Given the description of an element on the screen output the (x, y) to click on. 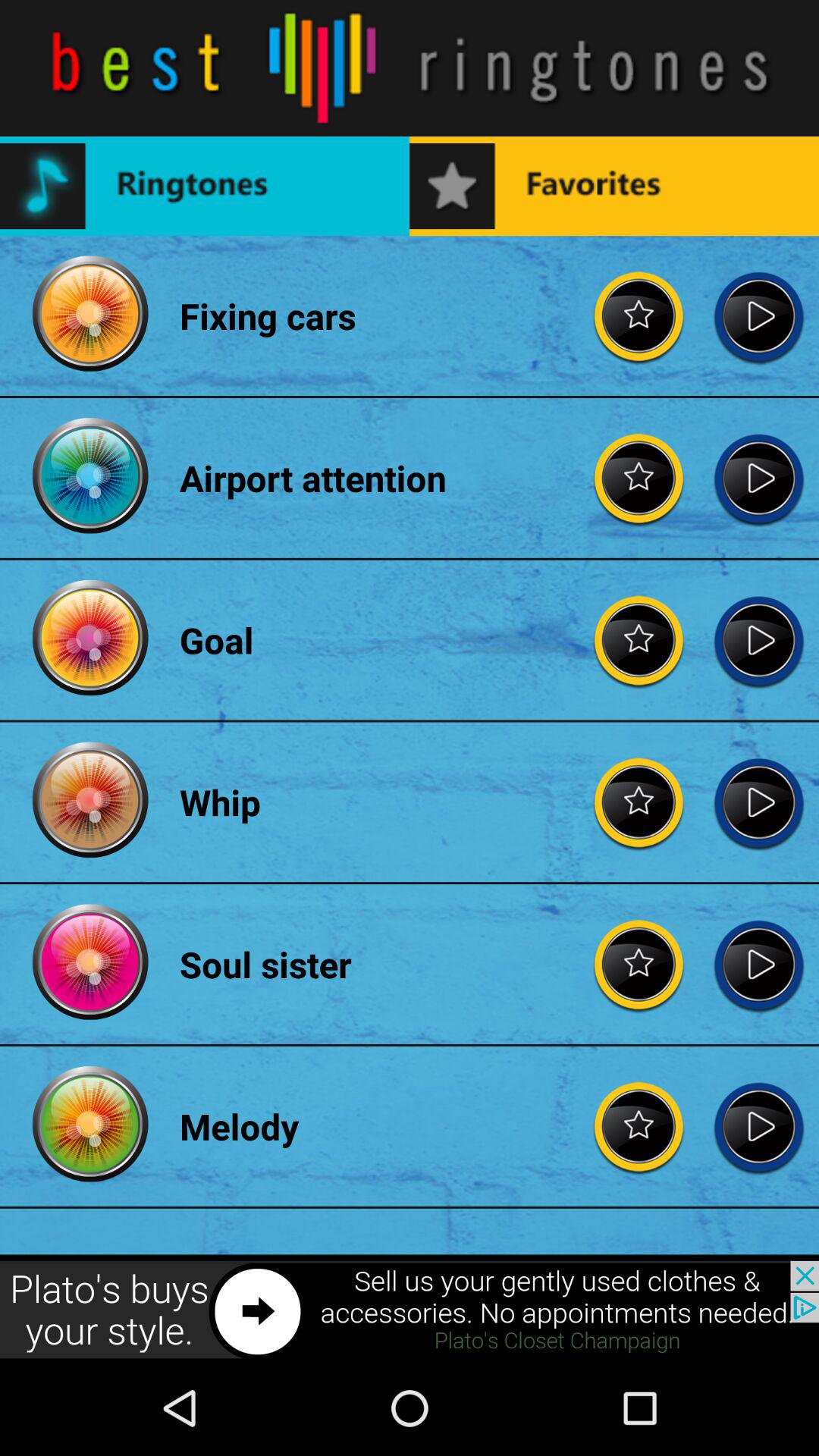
favorite ringtone (639, 477)
